Given the description of an element on the screen output the (x, y) to click on. 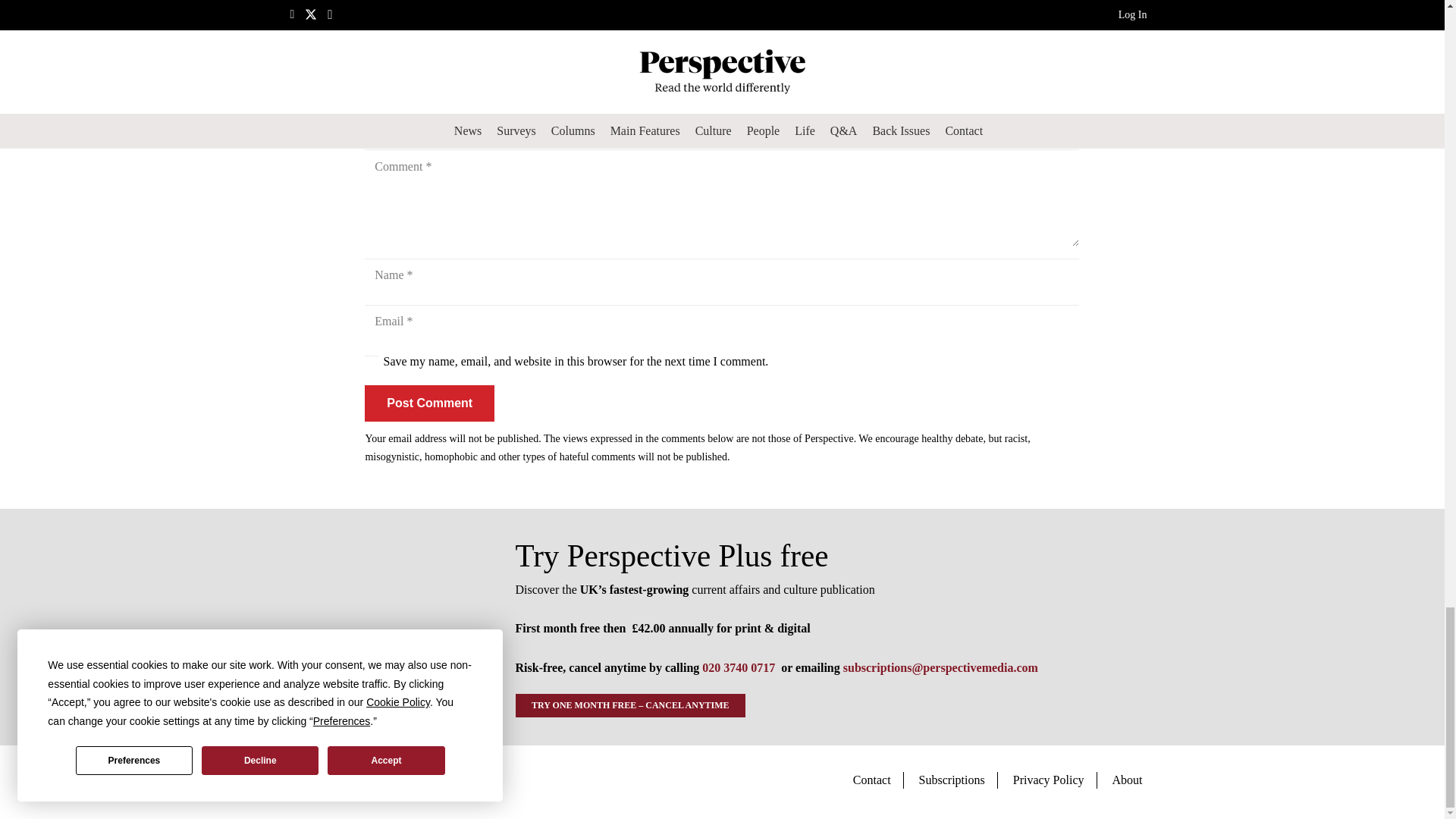
Claim Offer (722, 0)
1 (371, 362)
Post Comment (430, 402)
020 3740 0717 (737, 667)
Trial Offer (383, 627)
News (378, 33)
